Given the description of an element on the screen output the (x, y) to click on. 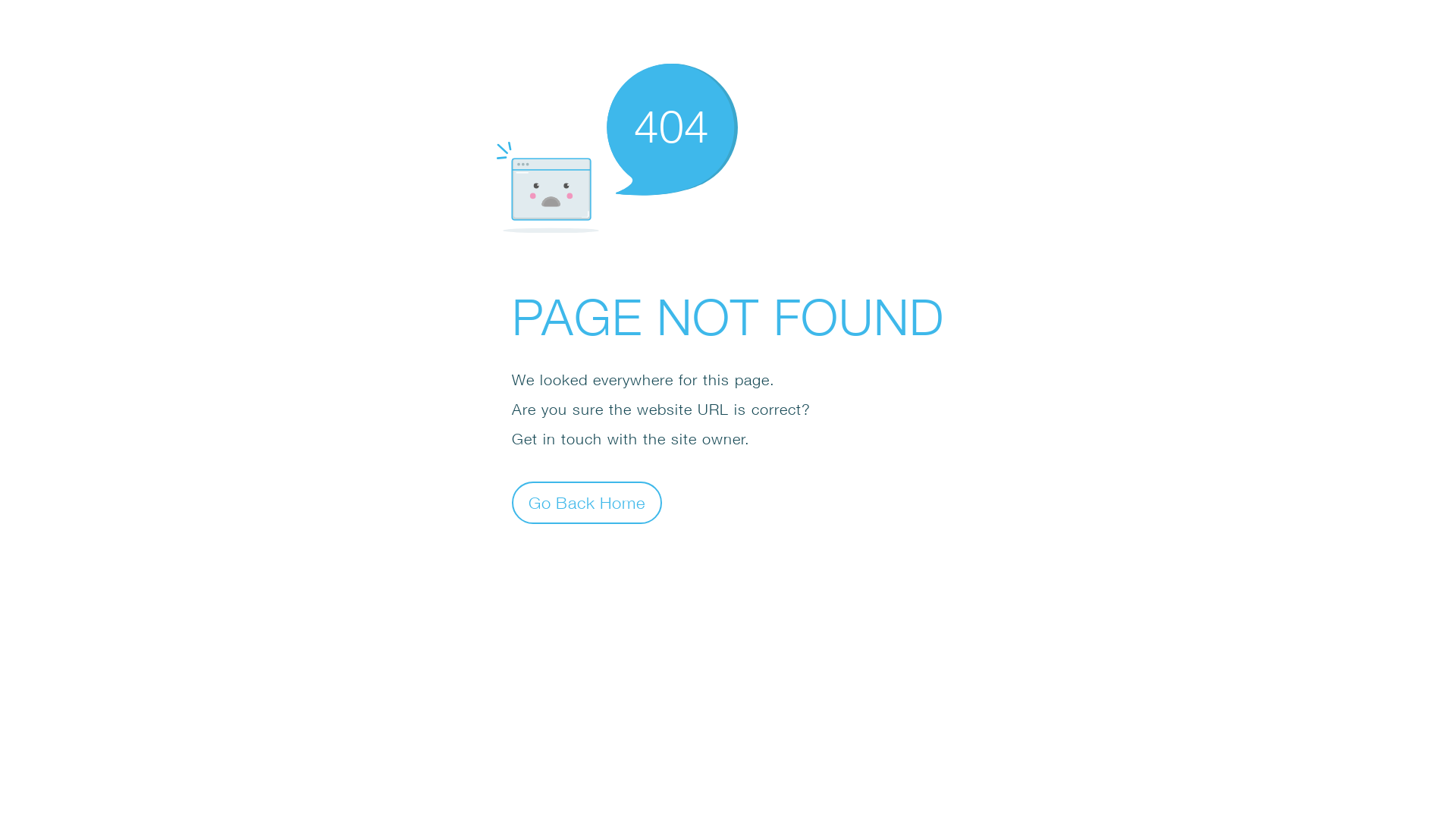
Go Back Home Element type: text (586, 502)
